Given the description of an element on the screen output the (x, y) to click on. 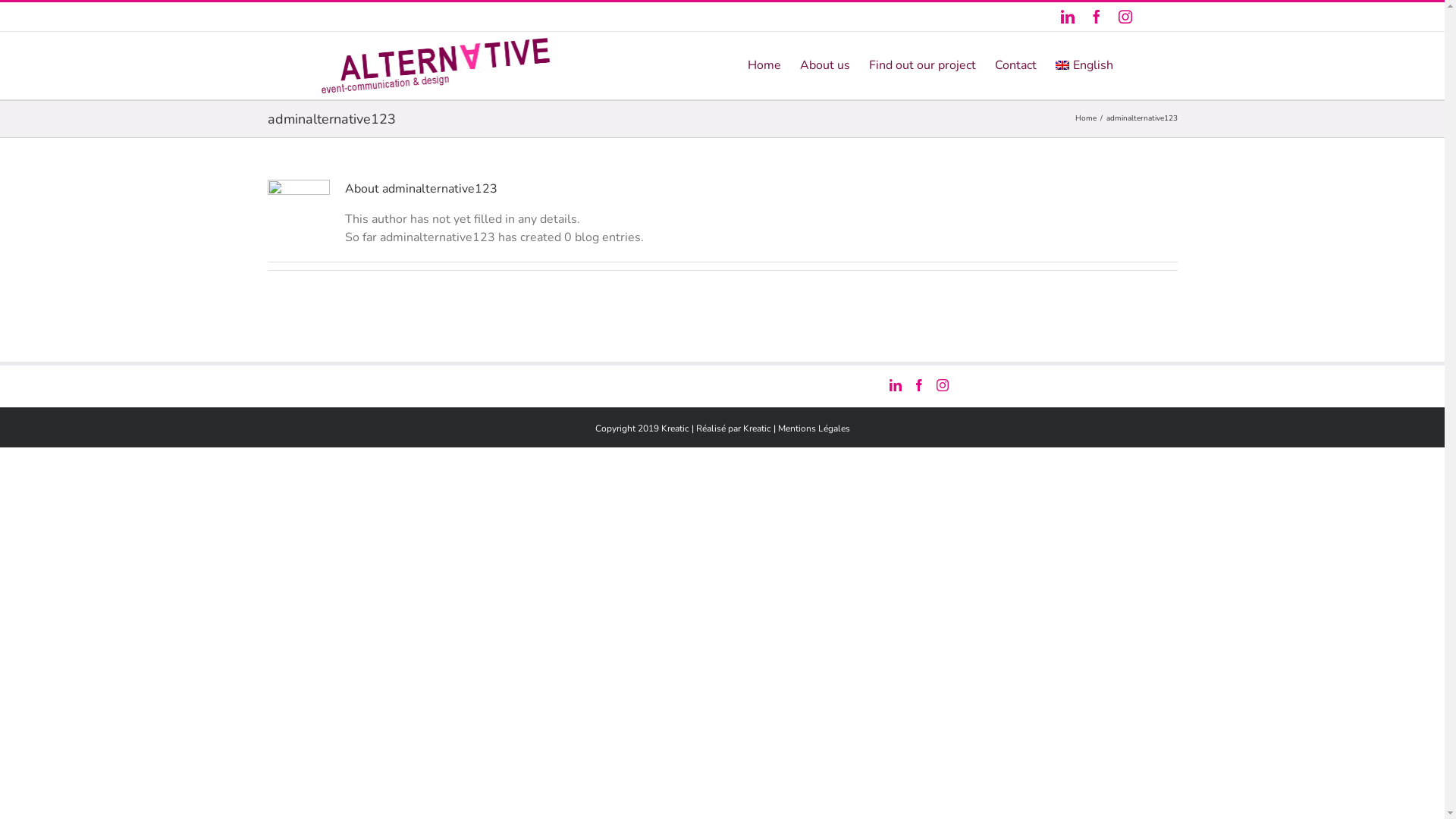
Facebook Element type: text (1095, 16)
Home Element type: text (764, 63)
Contact Element type: text (1015, 63)
LinkedIn Element type: text (1066, 16)
About us Element type: text (825, 63)
Find out our project Element type: text (922, 63)
Home Element type: text (1085, 117)
Kreatic Element type: text (757, 427)
English Element type: text (1084, 63)
Instagram Element type: text (1124, 16)
